Given the description of an element on the screen output the (x, y) to click on. 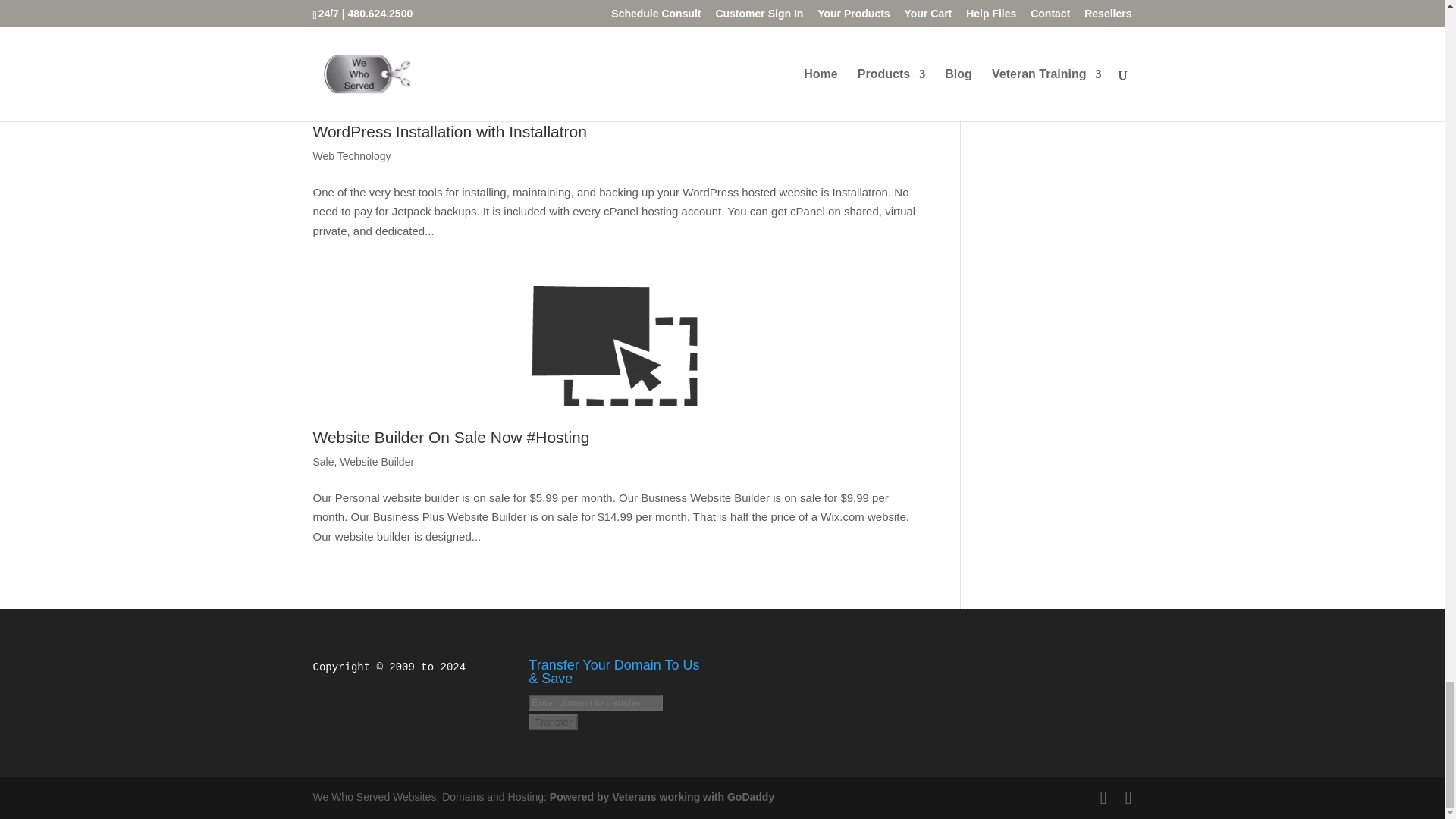
Transfer (553, 721)
WordPress Installation with Installatron (614, 50)
Transfer (553, 721)
